Given the description of an element on the screen output the (x, y) to click on. 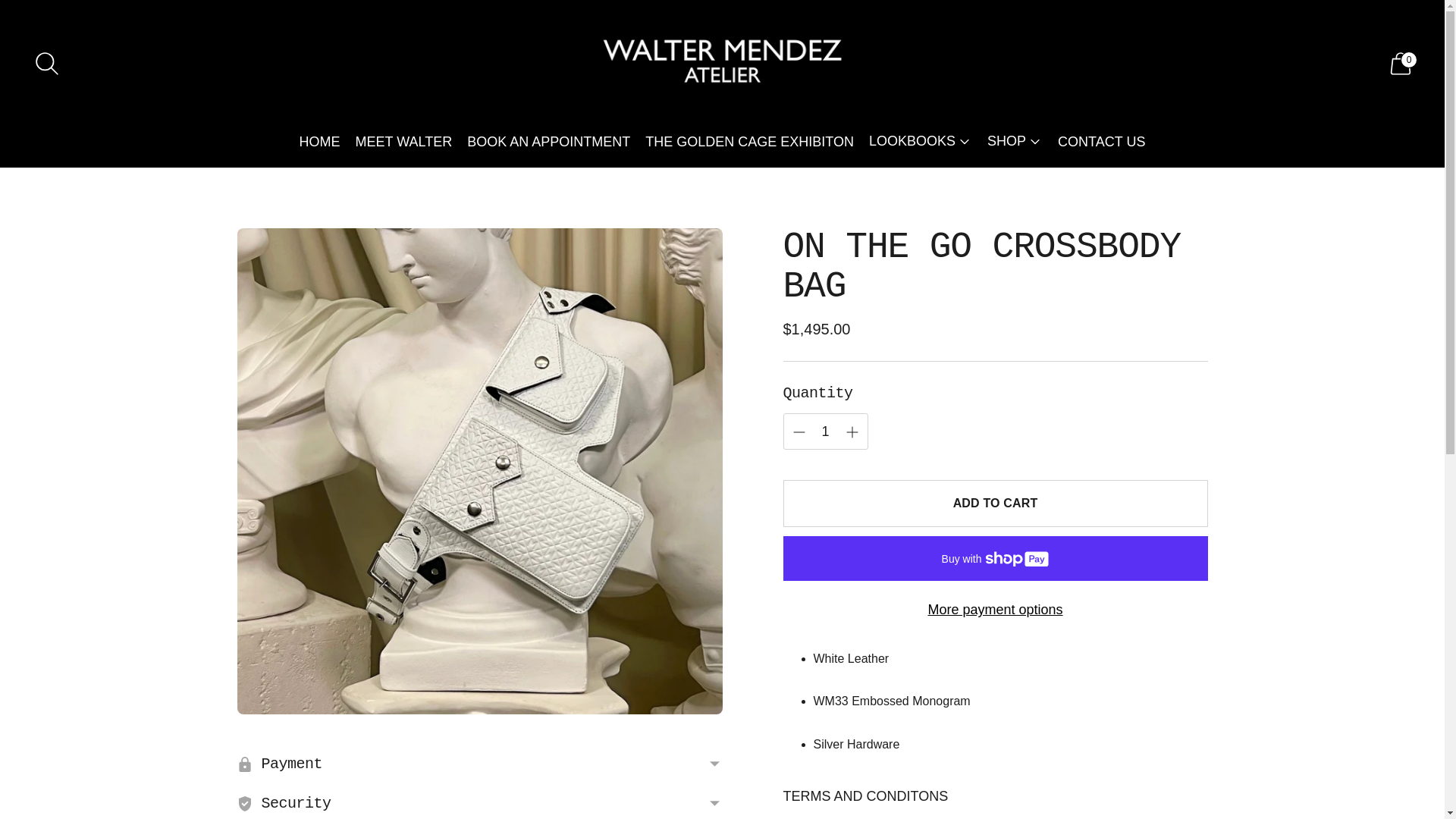
0 (1400, 63)
SHOP (1014, 141)
MEET WALTER (403, 141)
THE GOLDEN CAGE EXHIBITON (749, 141)
LOOKBOOKS (920, 141)
CONTACT US (1101, 141)
BOOK AN APPOINTMENT (548, 141)
HOME (319, 141)
